Given the description of an element on the screen output the (x, y) to click on. 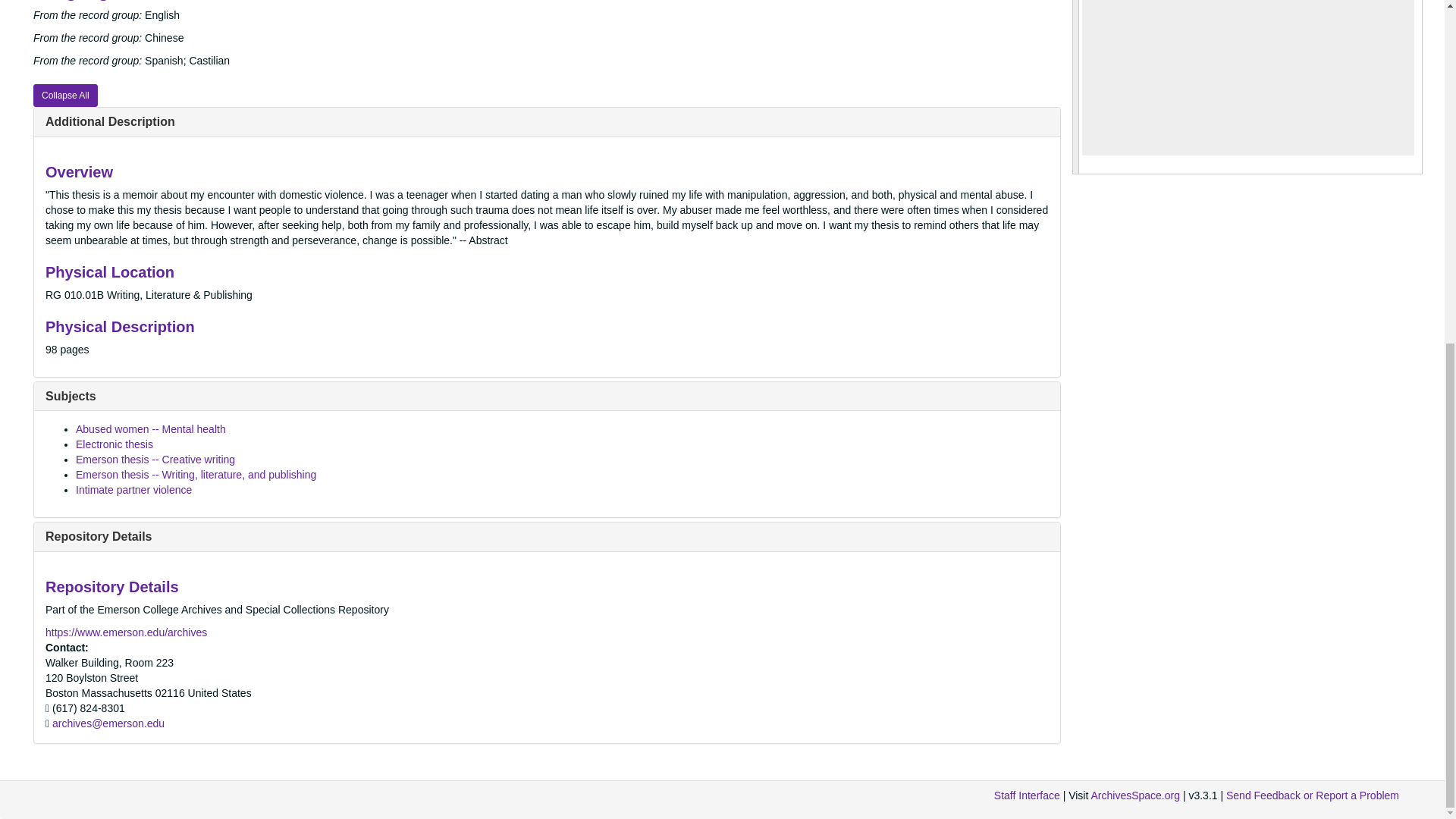
Send email (108, 723)
Additional Description (109, 121)
Abused women -- Mental health (150, 428)
Electronic thesis (113, 444)
Emerson thesis -- Writing, literature, and publishing (195, 474)
Subjects (70, 395)
Repository Details (98, 535)
Collapse All (65, 95)
Emerson thesis -- Creative writing (154, 459)
Intimate partner violence (133, 490)
